Given the description of an element on the screen output the (x, y) to click on. 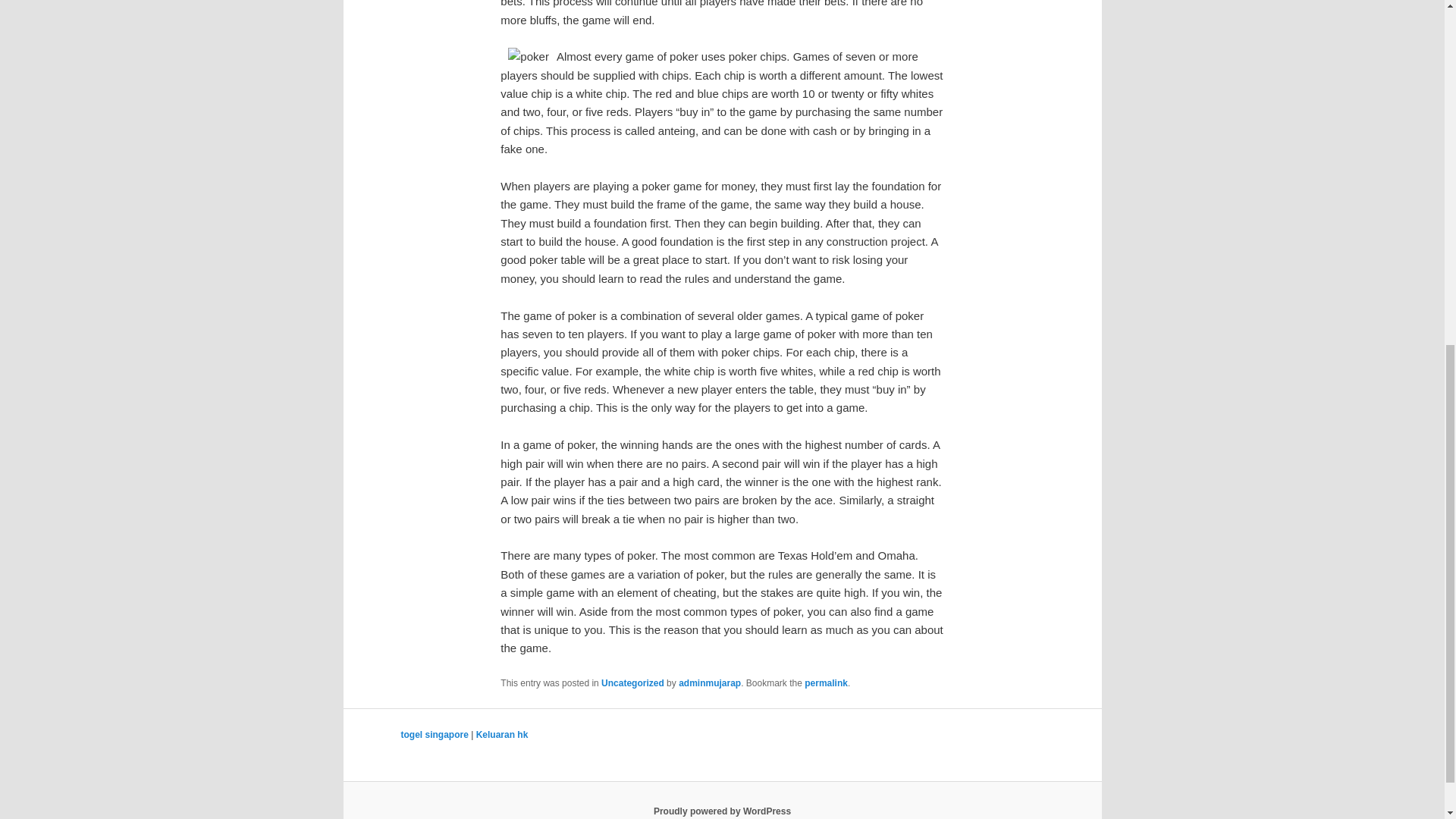
adminmujarap (709, 683)
Keluaran hk (502, 734)
togel singapore (433, 734)
Uncategorized (632, 683)
Proudly powered by WordPress (721, 810)
permalink (826, 683)
Semantic Personal Publishing Platform (721, 810)
